Given the description of an element on the screen output the (x, y) to click on. 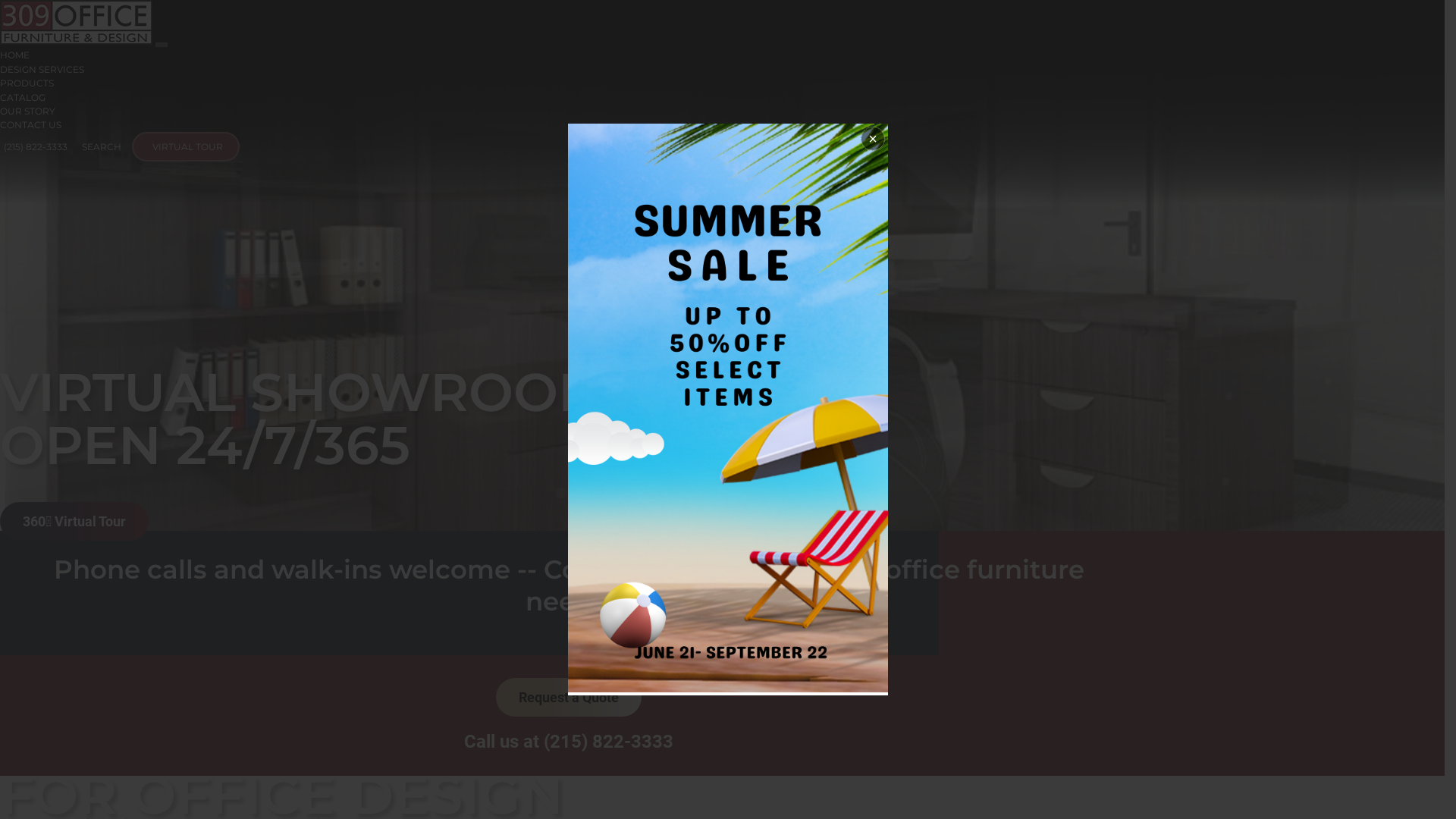
HOME Element type: text (14, 54)
CONTACT US Element type: text (30, 124)
PRODUCTS Element type: text (26, 82)
CATALOG Element type: text (22, 97)
SEARCH Element type: text (99, 146)
OUR STORY Element type: text (27, 110)
VIRTUAL TOUR Element type: text (185, 146)
Close Element type: hover (871, 139)
(215) 822-3333 Element type: text (33, 146)
DESIGN SERVICES Element type: text (42, 69)
Request a Quote Element type: text (568, 696)
